Given the description of an element on the screen output the (x, y) to click on. 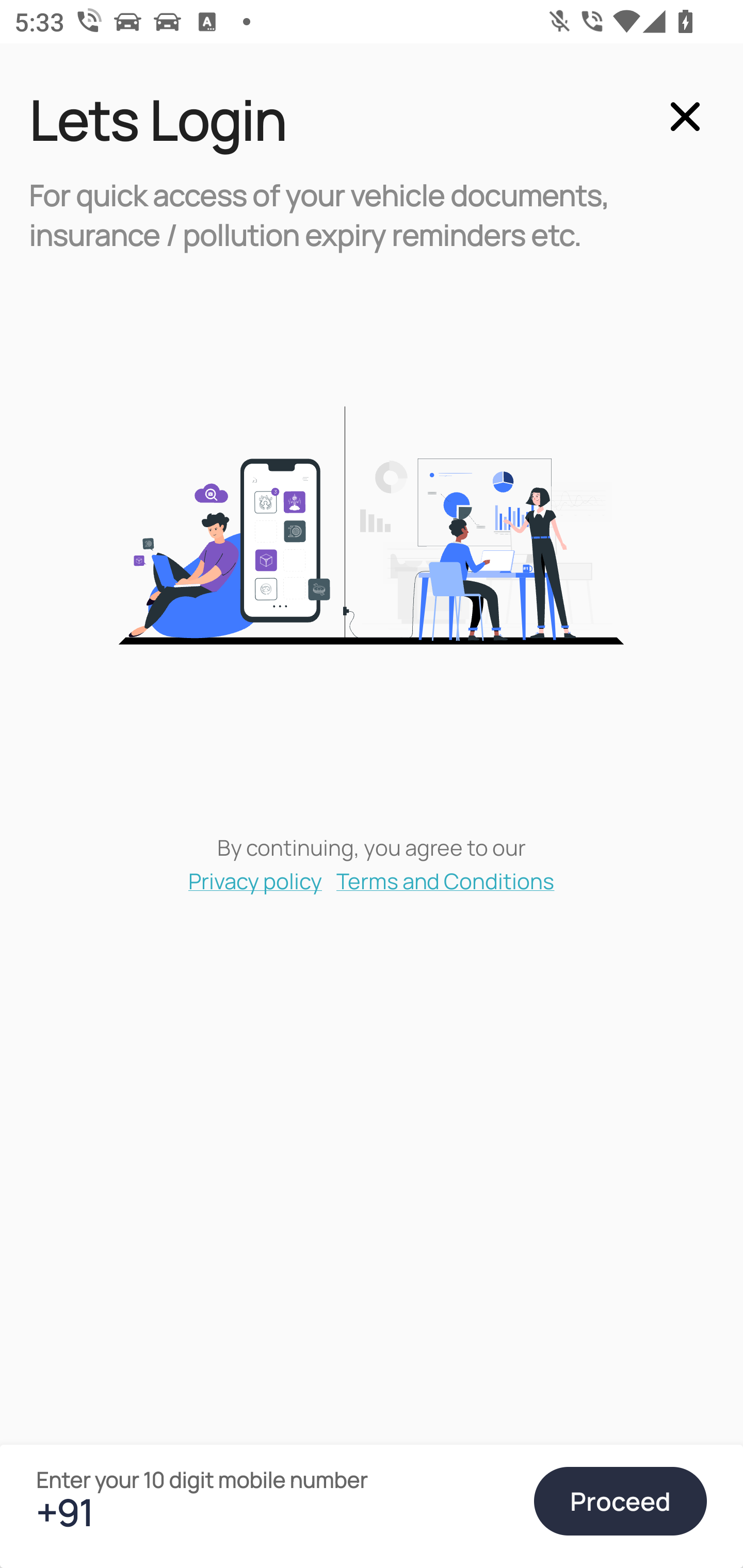
Privacy policy (254, 880)
Terms and Conditions (445, 880)
Proceed (620, 1501)
Enter your 10 digit mobile number (275, 1512)
